Given the description of an element on the screen output the (x, y) to click on. 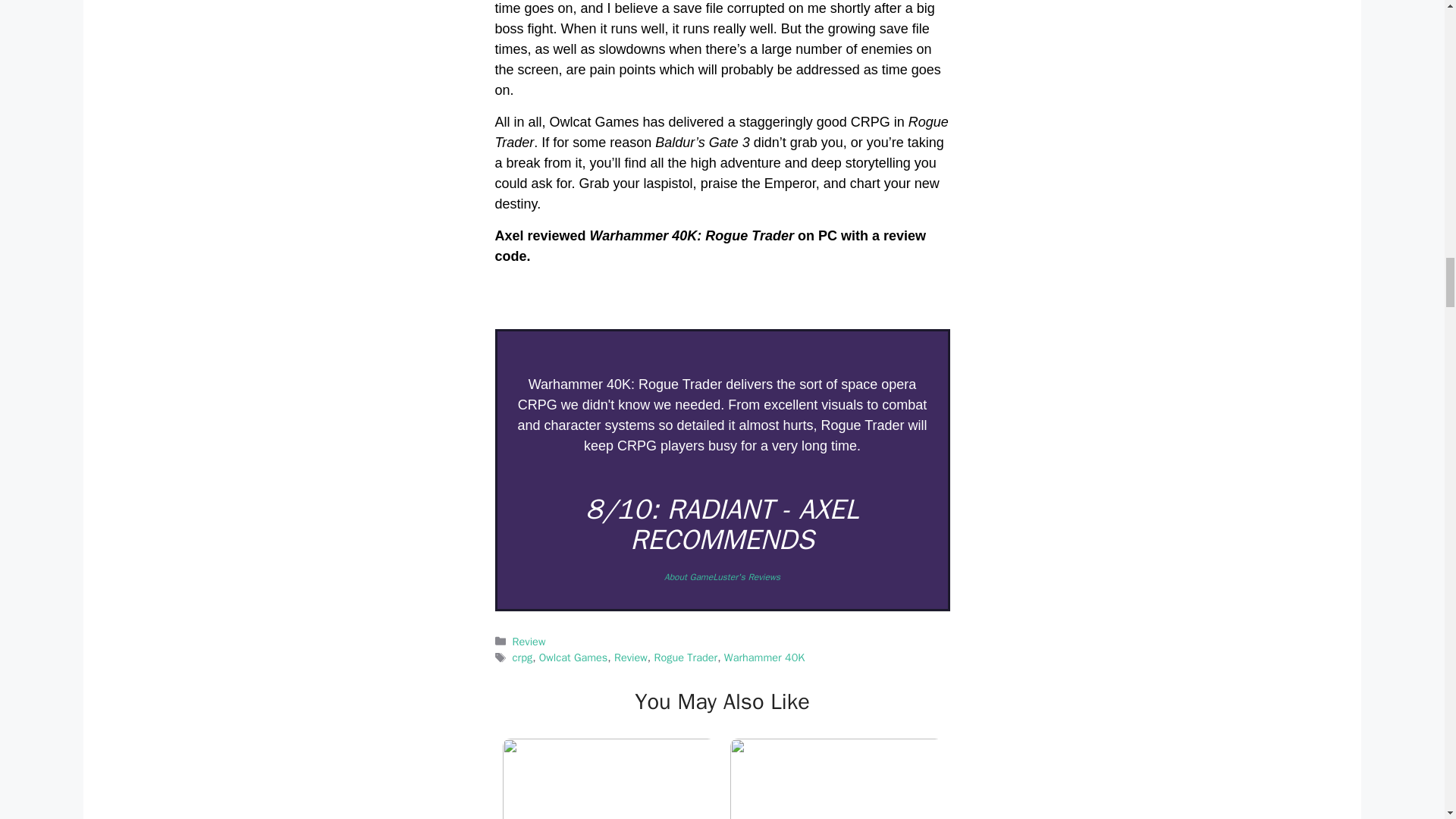
Review (529, 641)
Owlcat Games (573, 657)
Review (630, 657)
Warhammer 40K (764, 657)
About GameLuster's Reviews (721, 576)
Rogue Trader (685, 657)
crpg (522, 657)
